Given the description of an element on the screen output the (x, y) to click on. 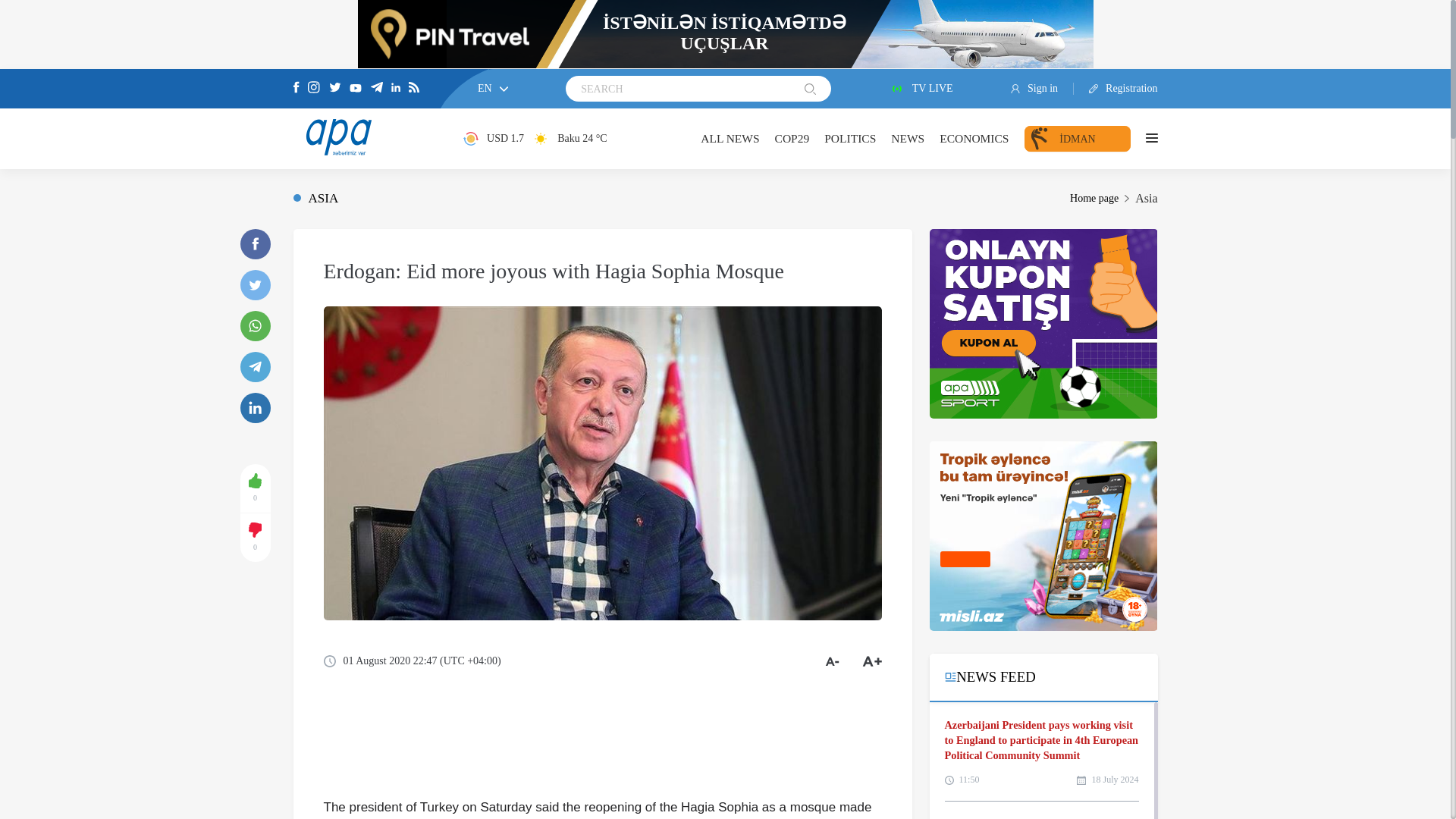
POLITICS (850, 138)
COP29 (791, 138)
ALL NEWS (729, 138)
TV LIVE (921, 88)
Registration (1115, 88)
USD 1.7 (493, 138)
Sign in (1042, 88)
NEWS (907, 138)
ECONOMICS (974, 138)
